Given the description of an element on the screen output the (x, y) to click on. 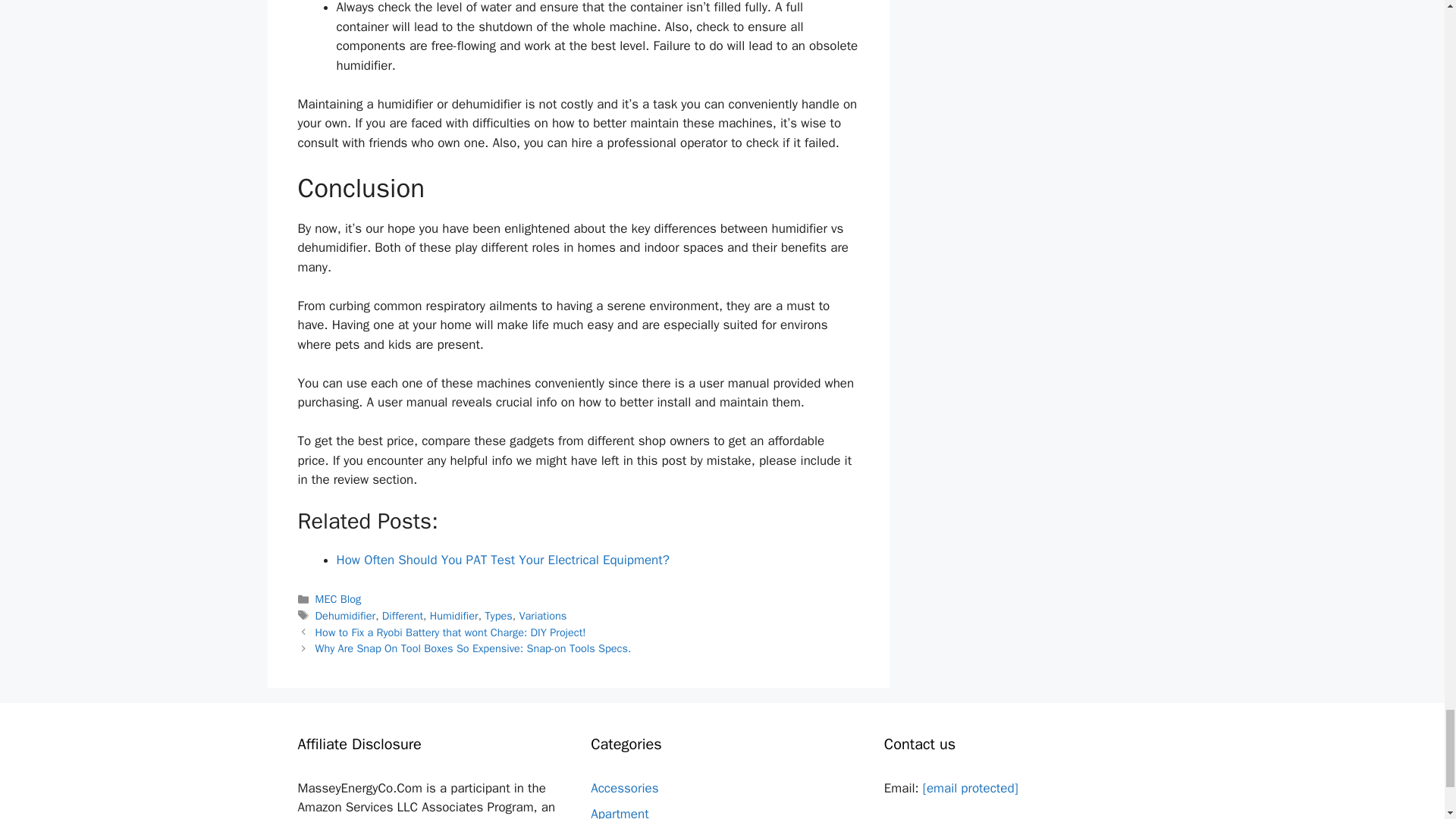
Dehumidifier (345, 615)
How to Fix a Ryobi Battery that wont Charge: DIY Project! (450, 632)
Variations (542, 615)
Humidifier (454, 615)
How Often Should You PAT Test Your Electrical Equipment? (502, 560)
MEC Blog (338, 599)
Types (498, 615)
Different (402, 615)
